Given the description of an element on the screen output the (x, y) to click on. 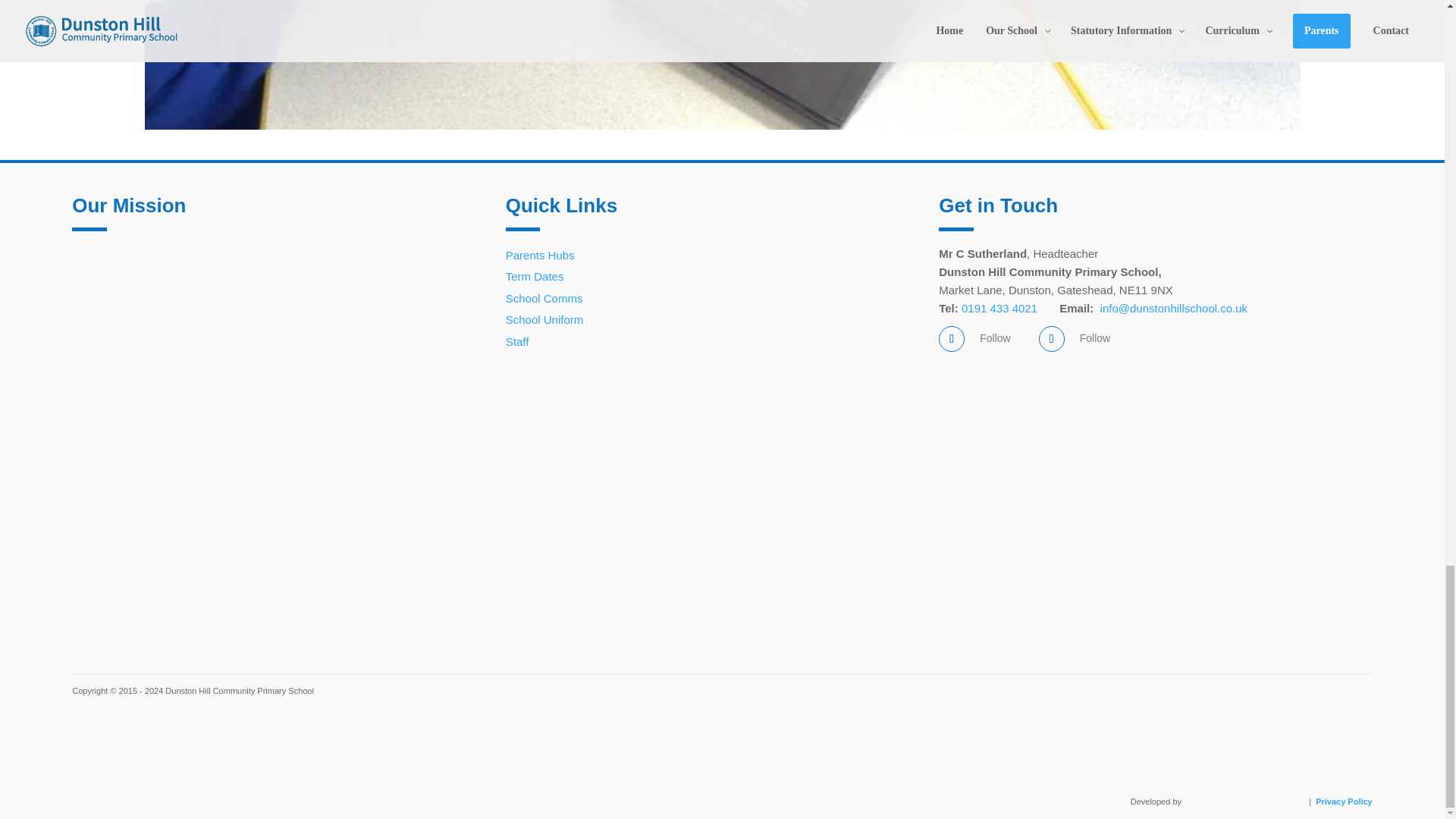
Follow on Youtube (1051, 338)
Youtube (1094, 338)
Facebook (995, 338)
Follow on Facebook (951, 338)
